Given the description of an element on the screen output the (x, y) to click on. 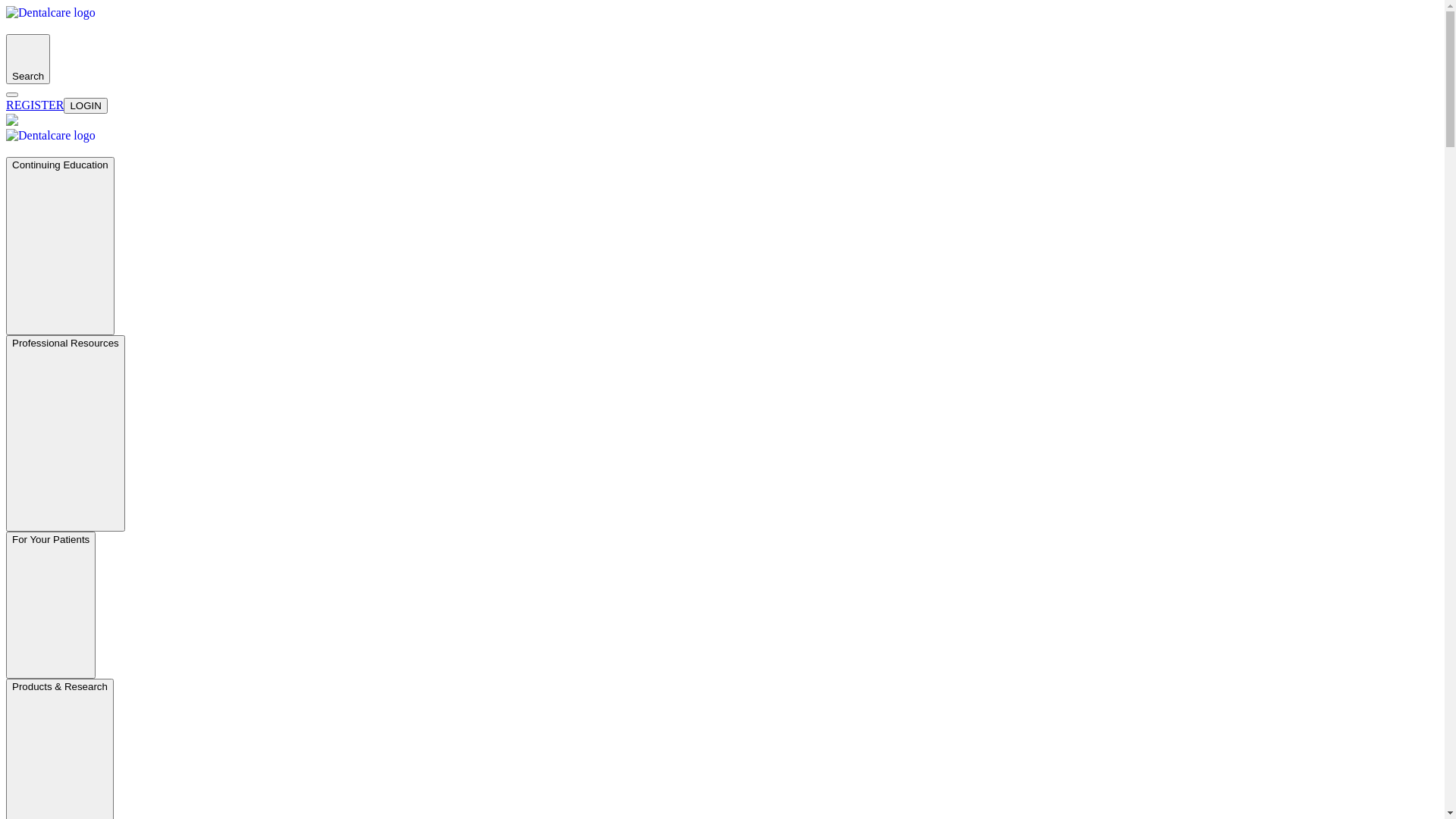
Search Element type: text (28, 59)
LOGIN Element type: text (84, 105)
Continuing Education Element type: text (60, 245)
REGISTER Element type: text (34, 104)
Professional Resources Element type: text (65, 433)
For Your Patients Element type: text (50, 604)
